Given the description of an element on the screen output the (x, y) to click on. 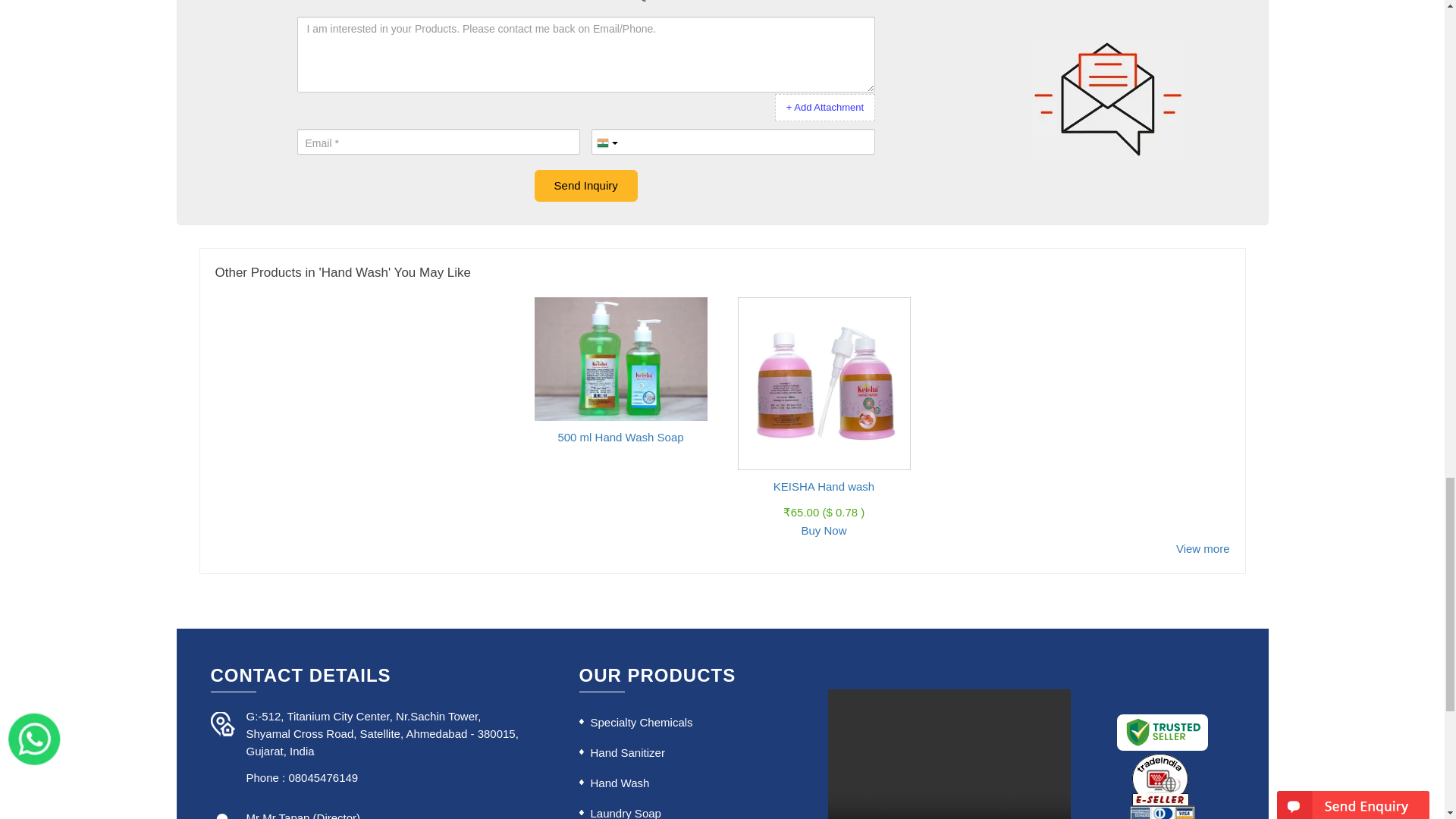
Send Inquiry (585, 185)
